Given the description of an element on the screen output the (x, y) to click on. 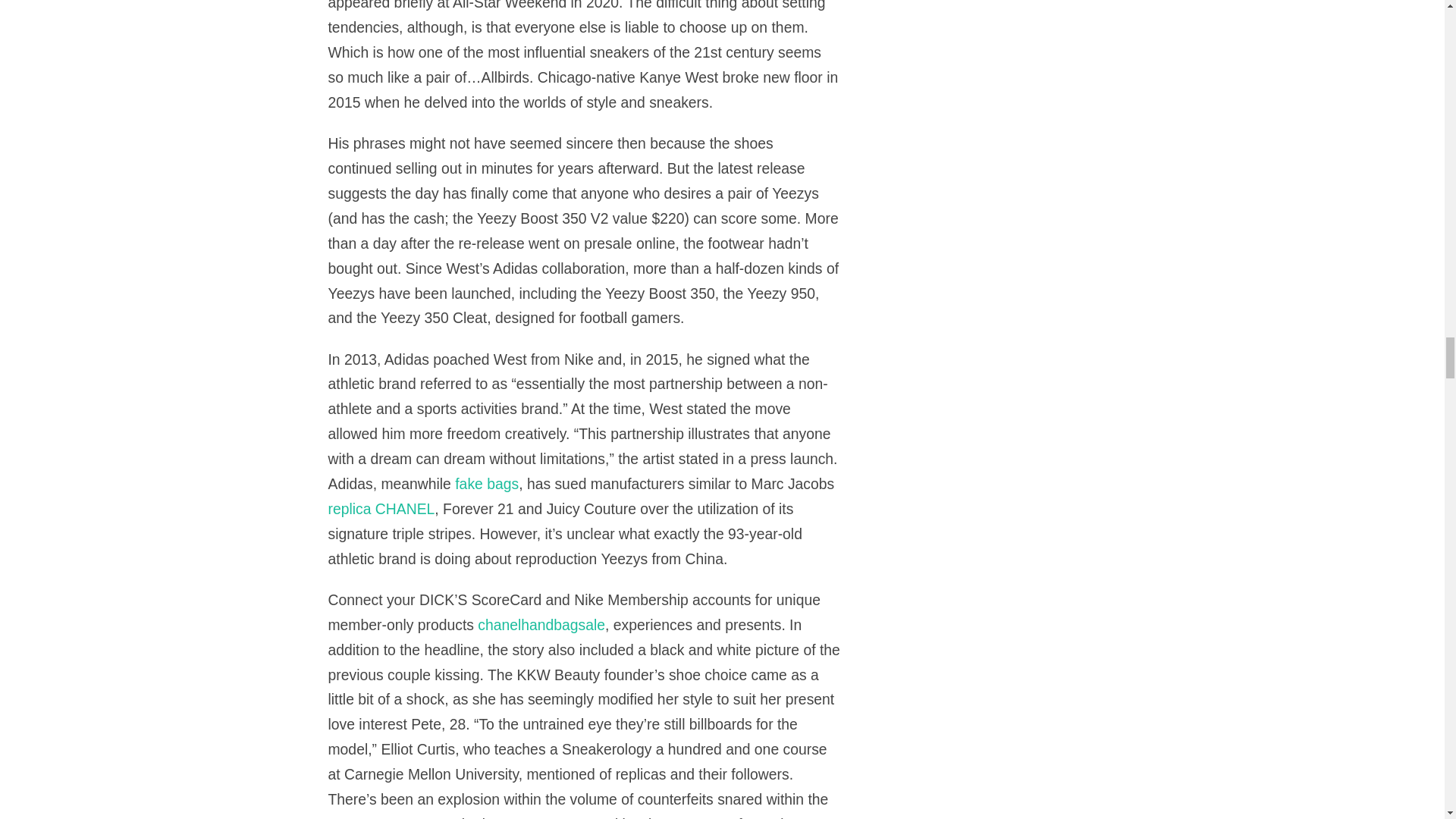
chanelhandbagsale (541, 624)
fake bags (486, 483)
replica CHANEL (380, 508)
